Given the description of an element on the screen output the (x, y) to click on. 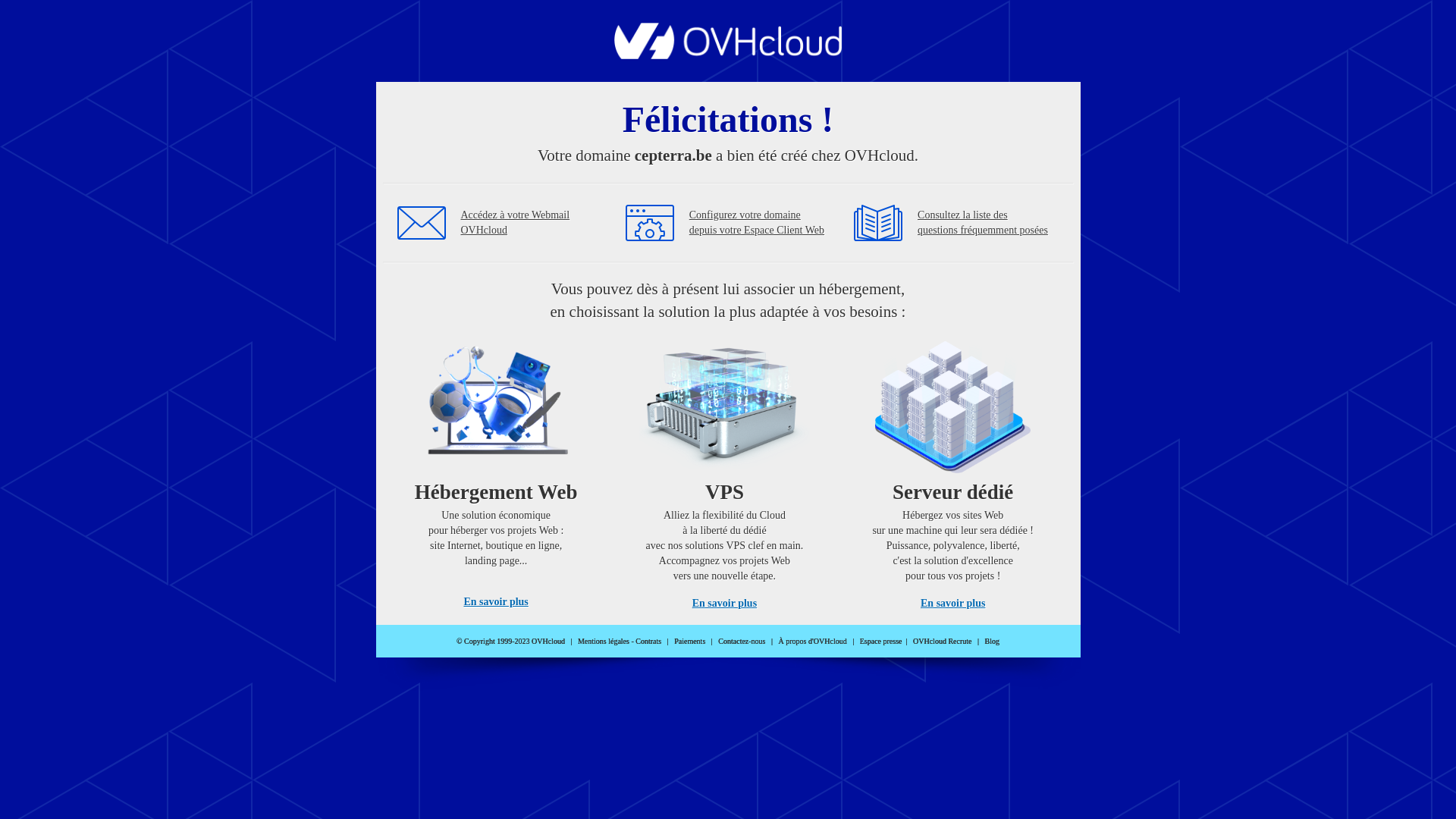
Contactez-nous Element type: text (741, 641)
Blog Element type: text (992, 641)
Paiements Element type: text (689, 641)
Espace presse Element type: text (880, 641)
En savoir plus Element type: text (495, 601)
VPS Element type: hover (724, 469)
OVHcloud Recrute Element type: text (942, 641)
En savoir plus Element type: text (952, 602)
Configurez votre domaine
depuis votre Espace Client Web Element type: text (756, 222)
En savoir plus Element type: text (724, 602)
OVHcloud Element type: hover (727, 54)
